Given the description of an element on the screen output the (x, y) to click on. 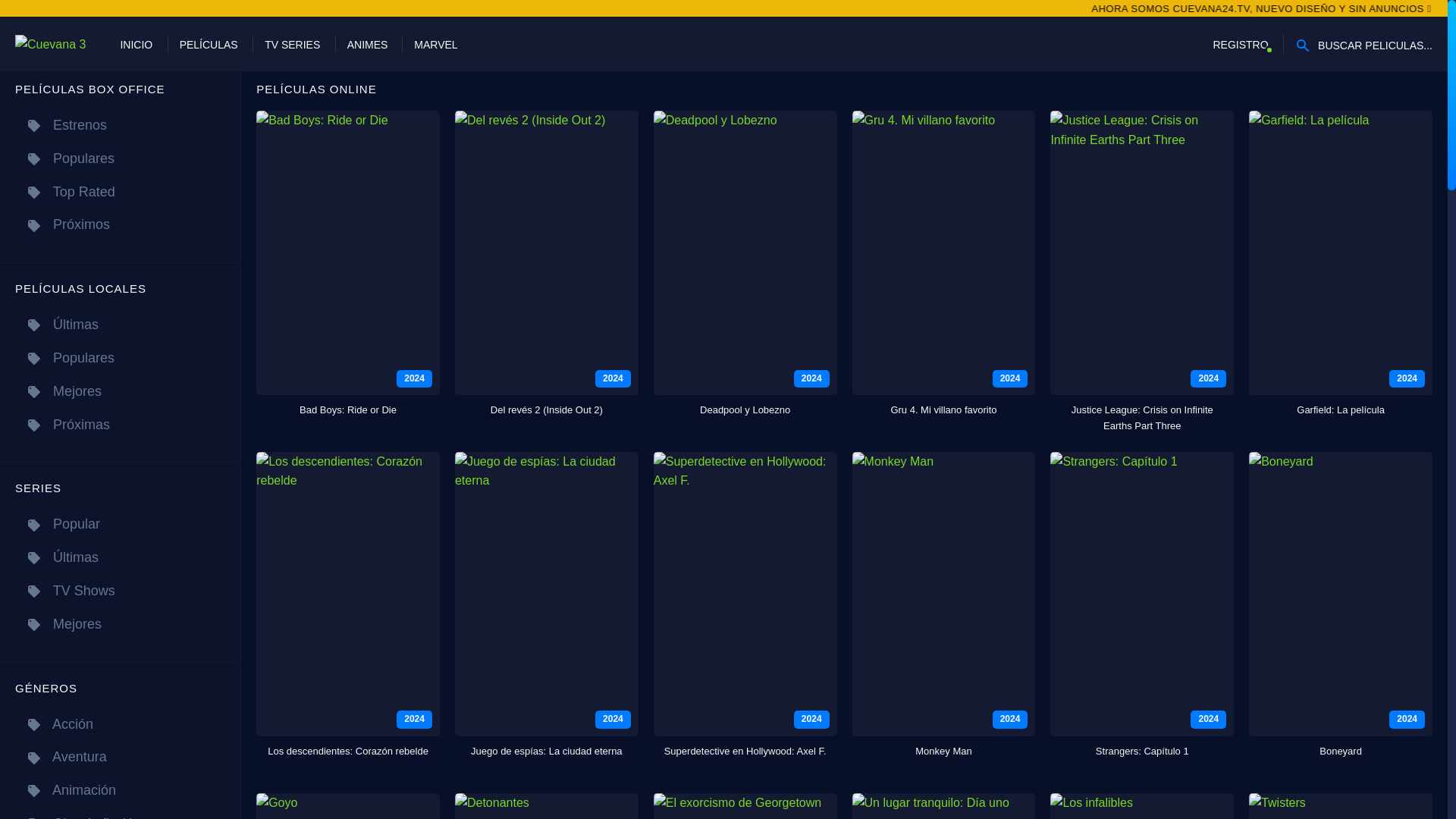
TV SERIES (292, 44)
ANIMES (367, 44)
Estrenos (119, 125)
Mejores (119, 624)
Mejores (119, 391)
Aventura (119, 757)
INICIO (135, 44)
REGISTRO (1240, 44)
BUSCAR PELICULAS... (1363, 44)
Popular (119, 523)
Populares (119, 358)
Top Rated (119, 192)
MARVEL (435, 44)
TV Shows (119, 591)
Populares (119, 158)
